Given the description of an element on the screen output the (x, y) to click on. 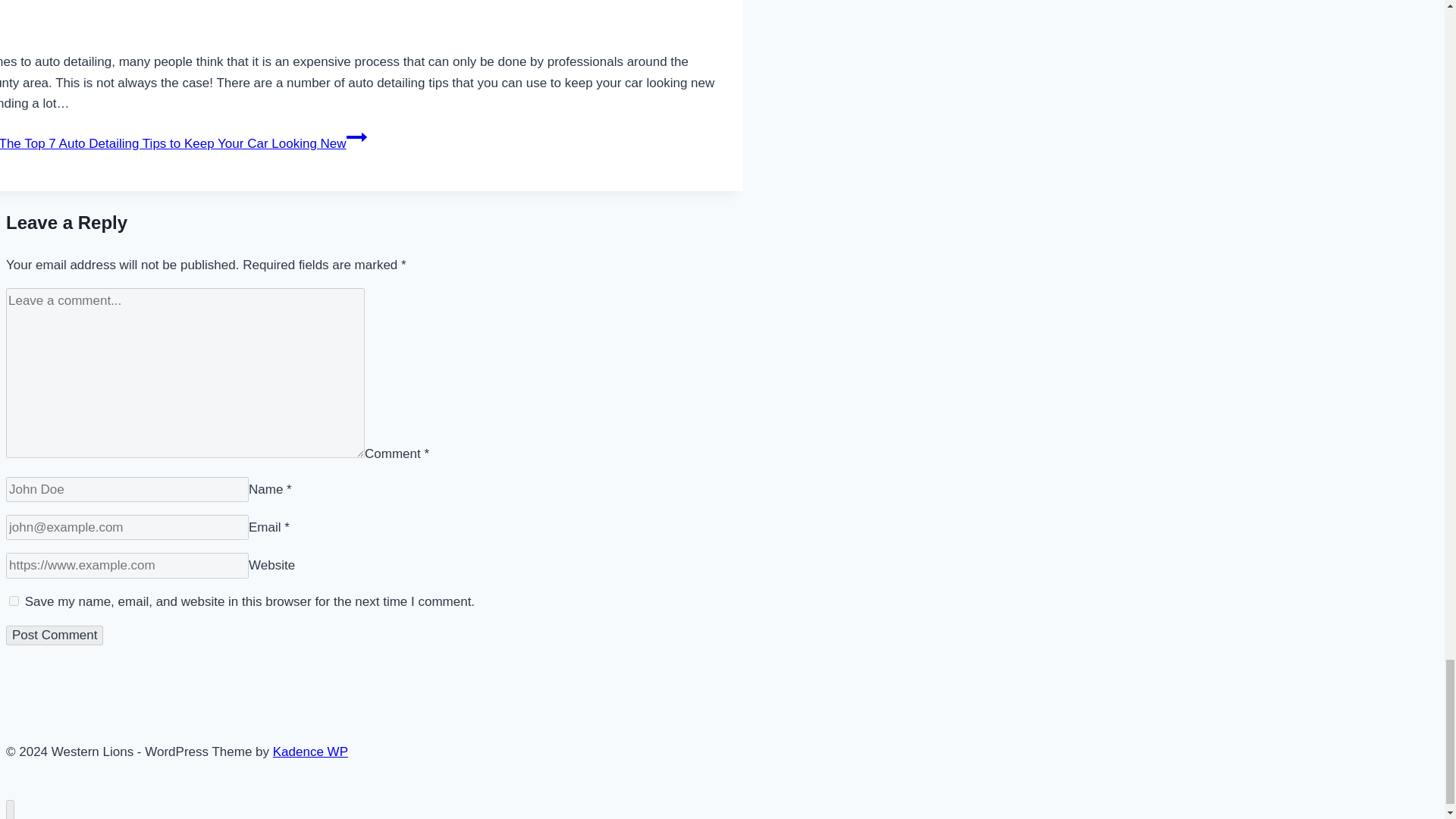
Post Comment (54, 635)
Post Comment (54, 635)
yes (13, 601)
Continue (356, 137)
Kadence WP (310, 751)
